Given the description of an element on the screen output the (x, y) to click on. 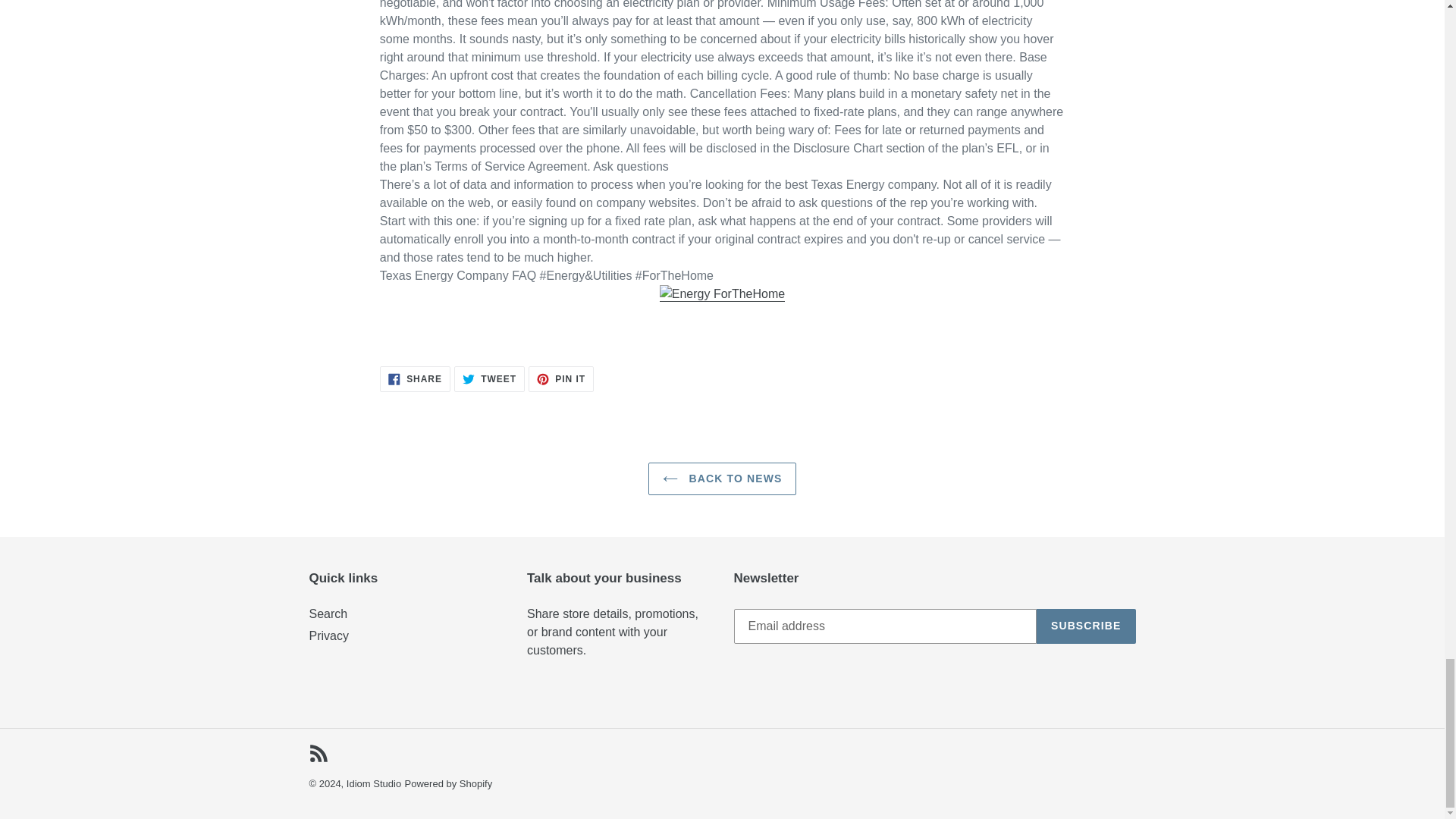
RSS (318, 752)
Search (414, 379)
Powered by Shopify (327, 613)
SUBSCRIBE (448, 783)
Idiom Studio (1085, 626)
BACK TO NEWS (373, 783)
Privacy (721, 478)
